Given the description of an element on the screen output the (x, y) to click on. 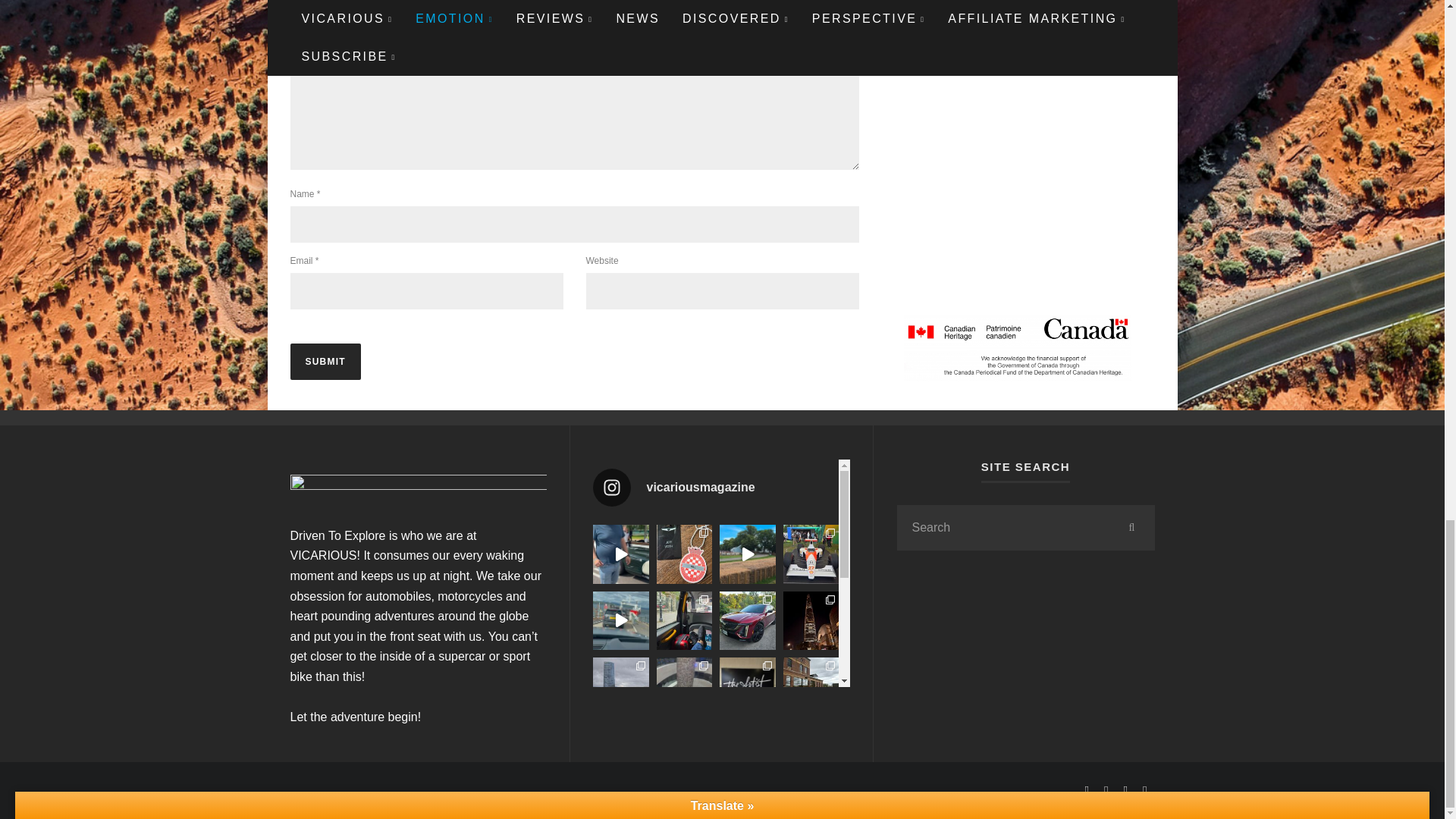
Submit (324, 361)
